Given the description of an element on the screen output the (x, y) to click on. 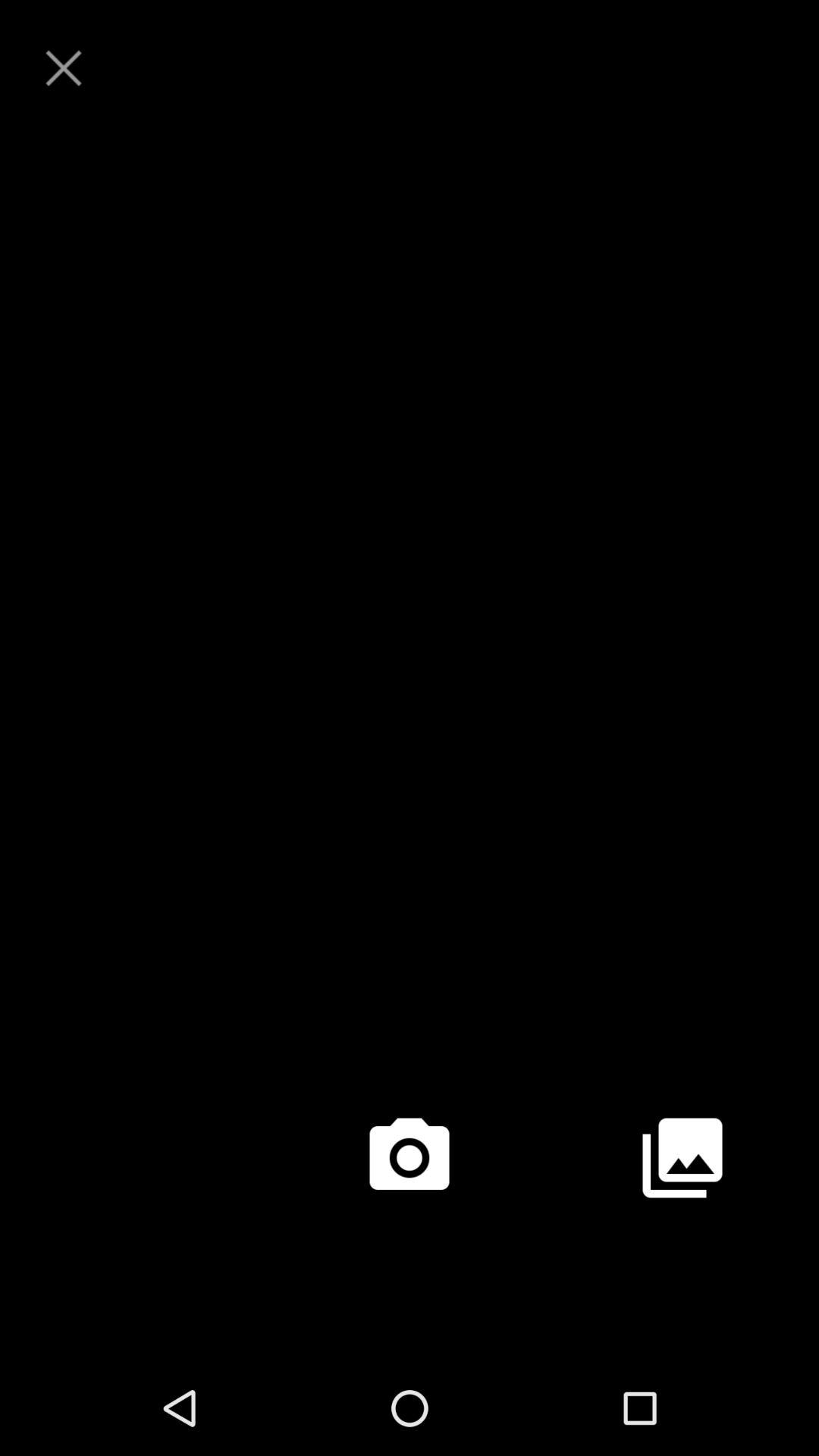
click the icon at the bottom right corner (682, 1157)
